Given the description of an element on the screen output the (x, y) to click on. 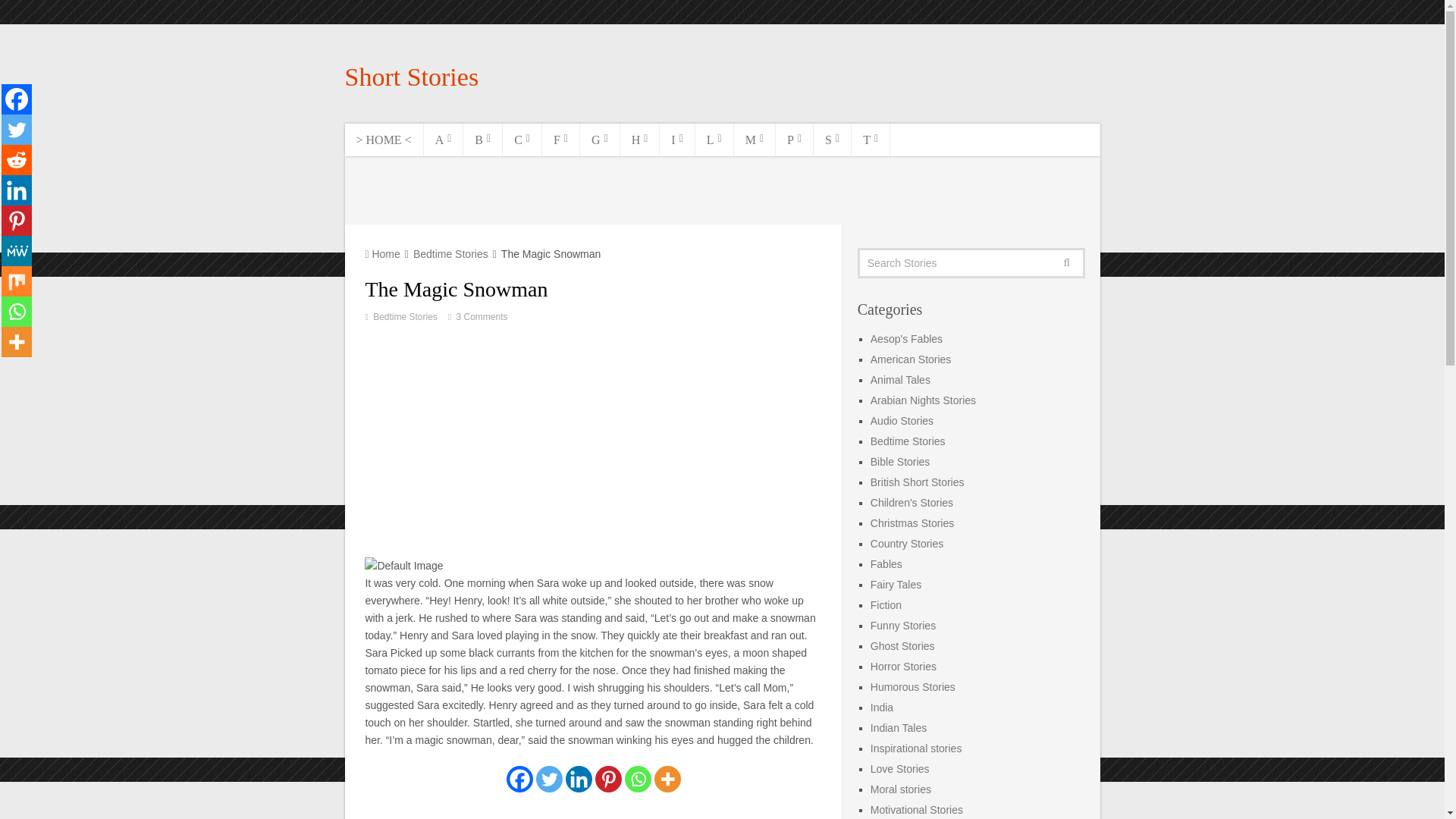
S (832, 139)
Pinterest (608, 778)
View all posts in Bedtime Stories (405, 317)
Twitter (548, 778)
Whatsapp (16, 311)
M (754, 139)
Twitter (16, 129)
C (521, 139)
B (482, 139)
Mix (16, 281)
Pinterest (16, 220)
Linkedin (16, 190)
Whatsapp (637, 778)
MeWe (16, 250)
T (870, 139)
